Given the description of an element on the screen output the (x, y) to click on. 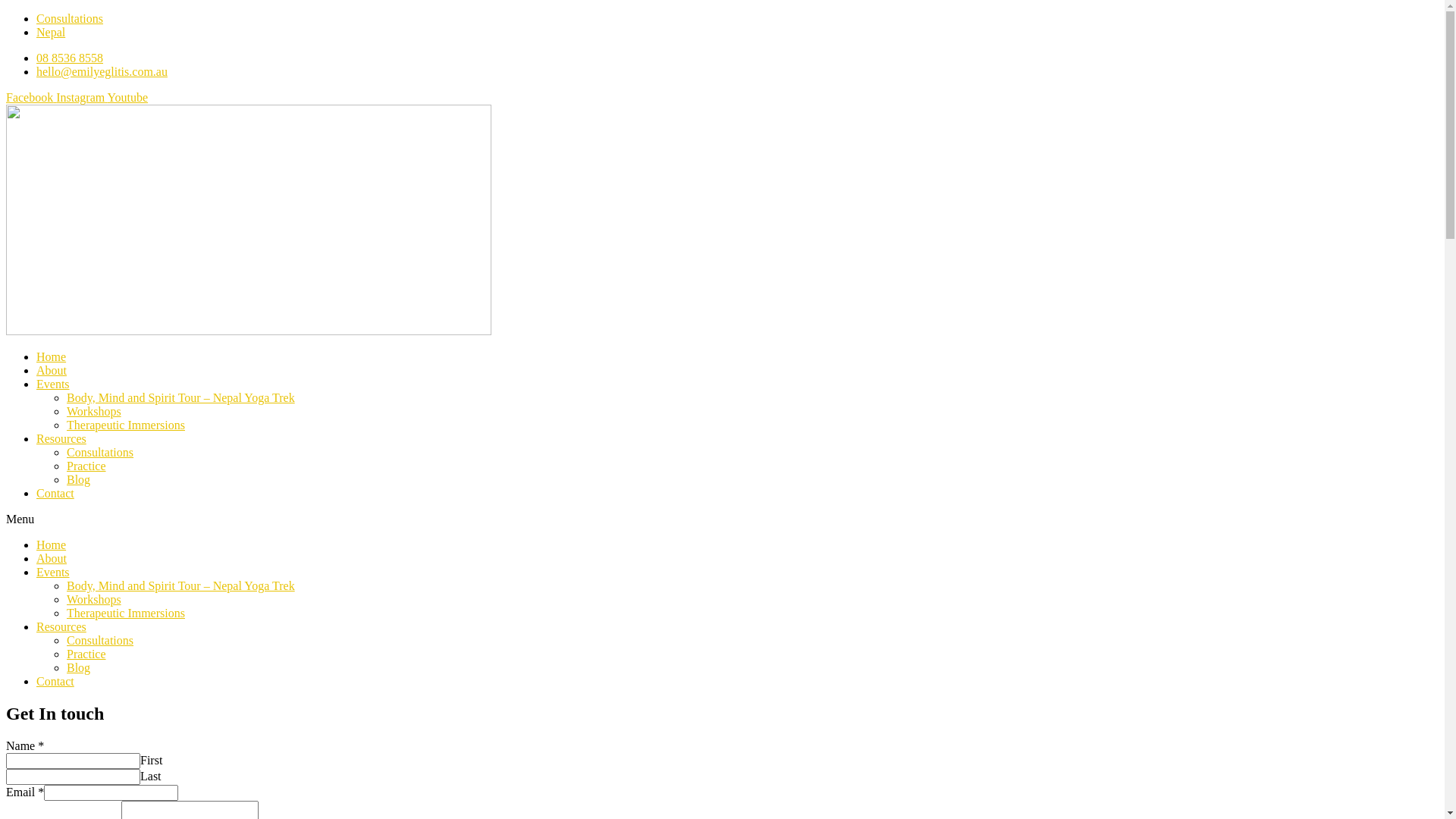
08 8536 8558 Element type: text (69, 57)
Instagram Element type: text (81, 97)
Blog Element type: text (78, 479)
Facebook Element type: text (31, 97)
Consultations Element type: text (99, 639)
Contact Element type: text (55, 680)
Practice Element type: text (86, 653)
Therapeutic Immersions Element type: text (125, 612)
Workshops Element type: text (93, 599)
Workshops Element type: text (93, 410)
Contact Element type: text (55, 492)
Home Element type: text (50, 356)
Events Element type: text (52, 383)
Consultations Element type: text (99, 451)
Practice Element type: text (86, 465)
hello@emilyeglitis.com.au Element type: text (101, 71)
Blog Element type: text (78, 667)
About Element type: text (51, 558)
About Element type: text (51, 370)
Youtube Element type: text (127, 97)
Events Element type: text (52, 571)
Home Element type: text (50, 544)
Nepal Element type: text (50, 31)
Consultations Element type: text (69, 18)
Therapeutic Immersions Element type: text (125, 424)
Resources Element type: text (61, 626)
Resources Element type: text (61, 438)
